Given the description of an element on the screen output the (x, y) to click on. 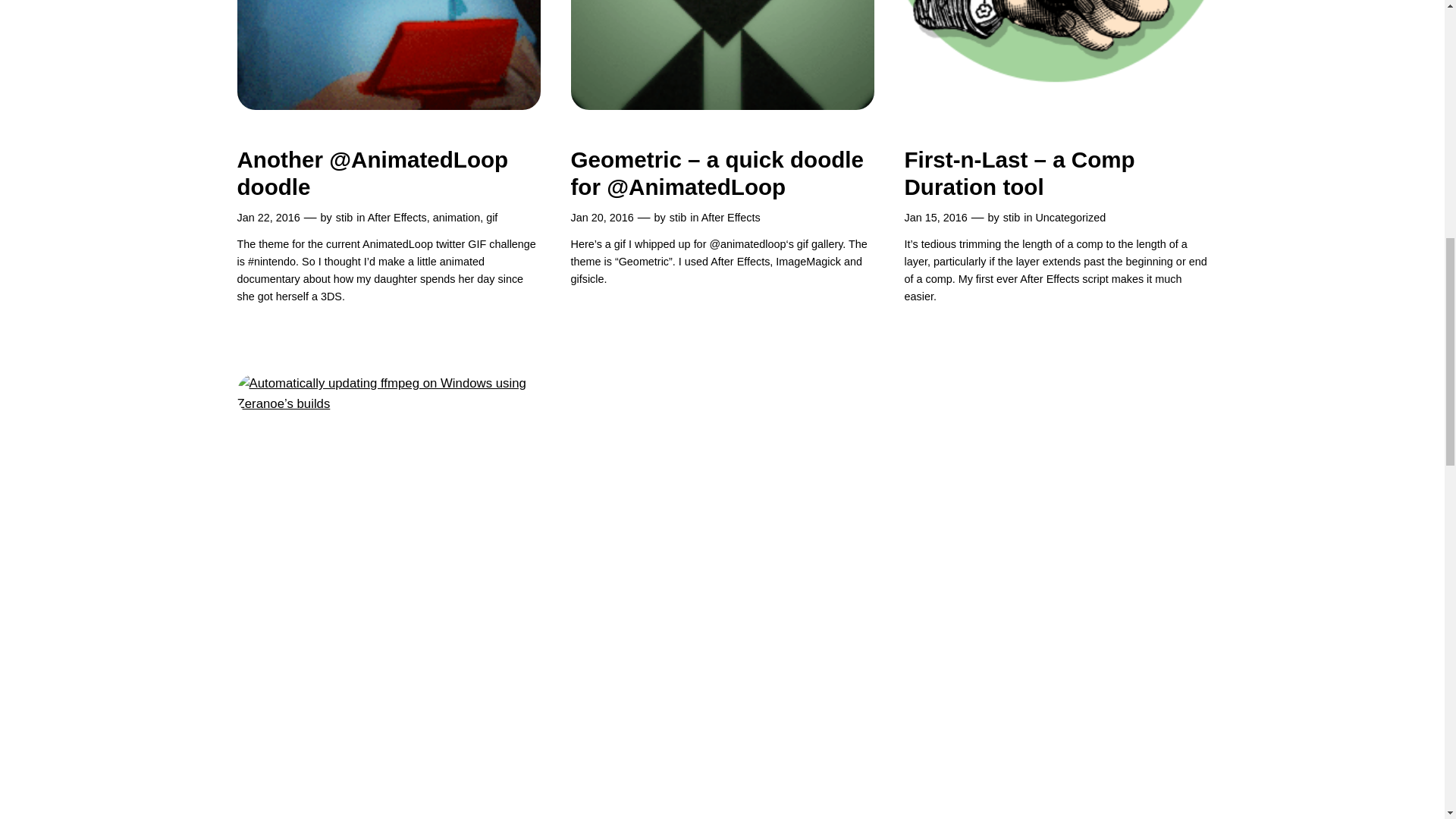
stib (344, 217)
After Effects (397, 217)
Jan 22, 2016 (267, 217)
animation (456, 217)
